Given the description of an element on the screen output the (x, y) to click on. 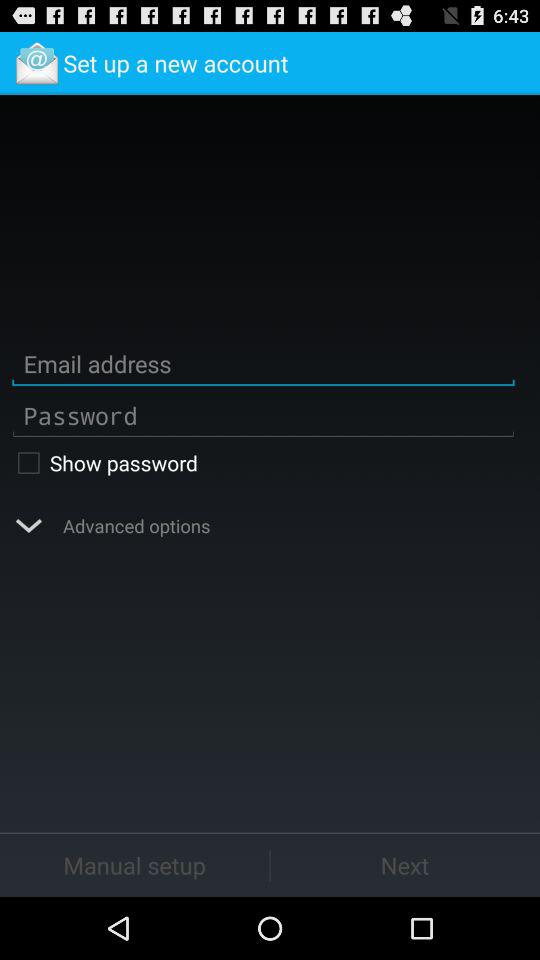
password field (263, 415)
